Given the description of an element on the screen output the (x, y) to click on. 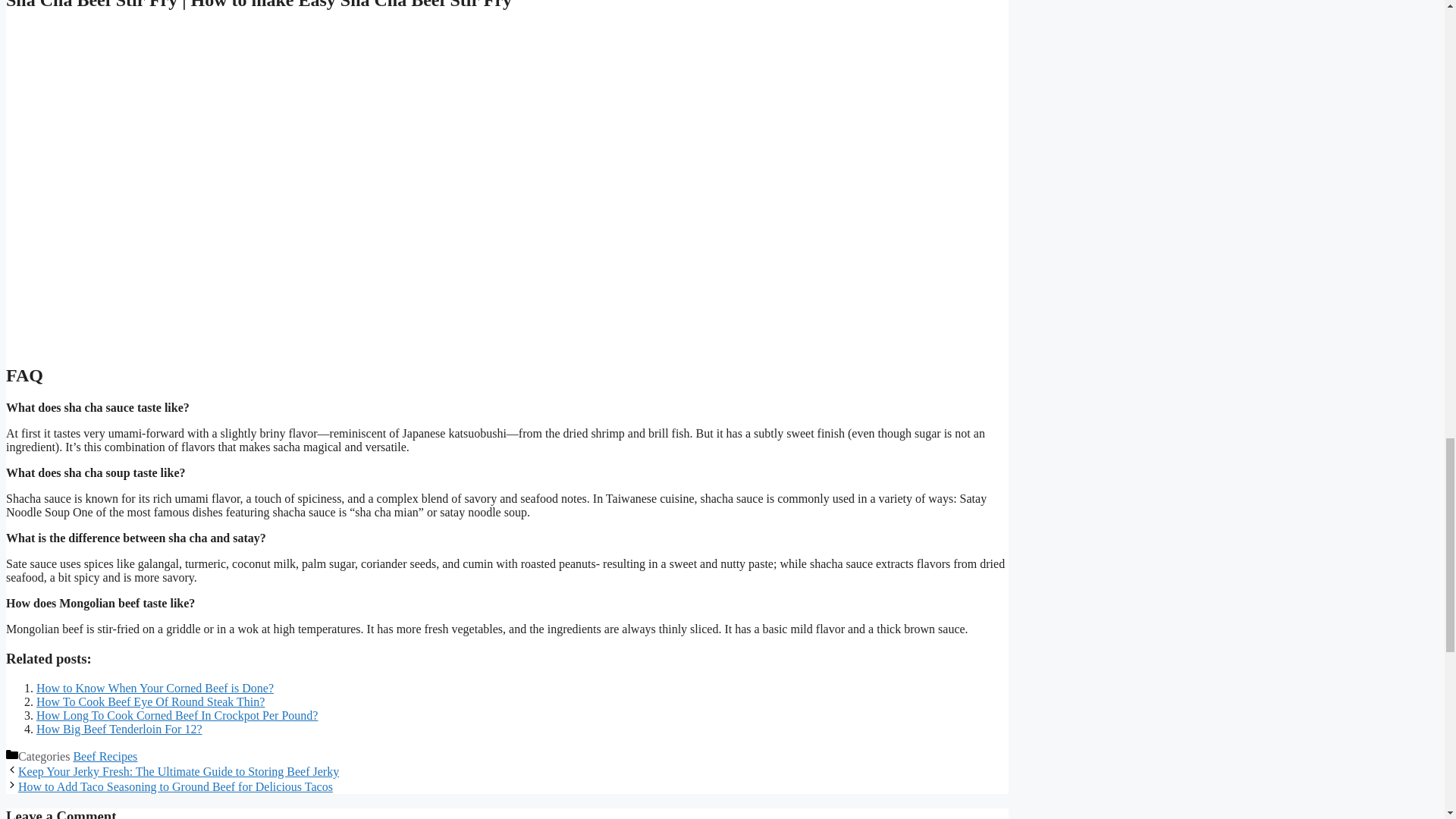
How to Know When Your Corned Beef is Done? (154, 687)
How To Cook Beef Eye Of Round Steak Thin? (150, 701)
How Big Beef Tenderloin For 12? (119, 728)
How To Cook Beef Eye Of Round Steak Thin? (150, 701)
How to Add Taco Seasoning to Ground Beef for Delicious Tacos (175, 786)
How to Know When Your Corned Beef is Done? (154, 687)
How Big Beef Tenderloin For 12? (119, 728)
Beef Recipes (104, 756)
How Long To Cook Corned Beef In Crockpot Per Pound? (176, 715)
How Long To Cook Corned Beef In Crockpot Per Pound? (176, 715)
